Given the description of an element on the screen output the (x, y) to click on. 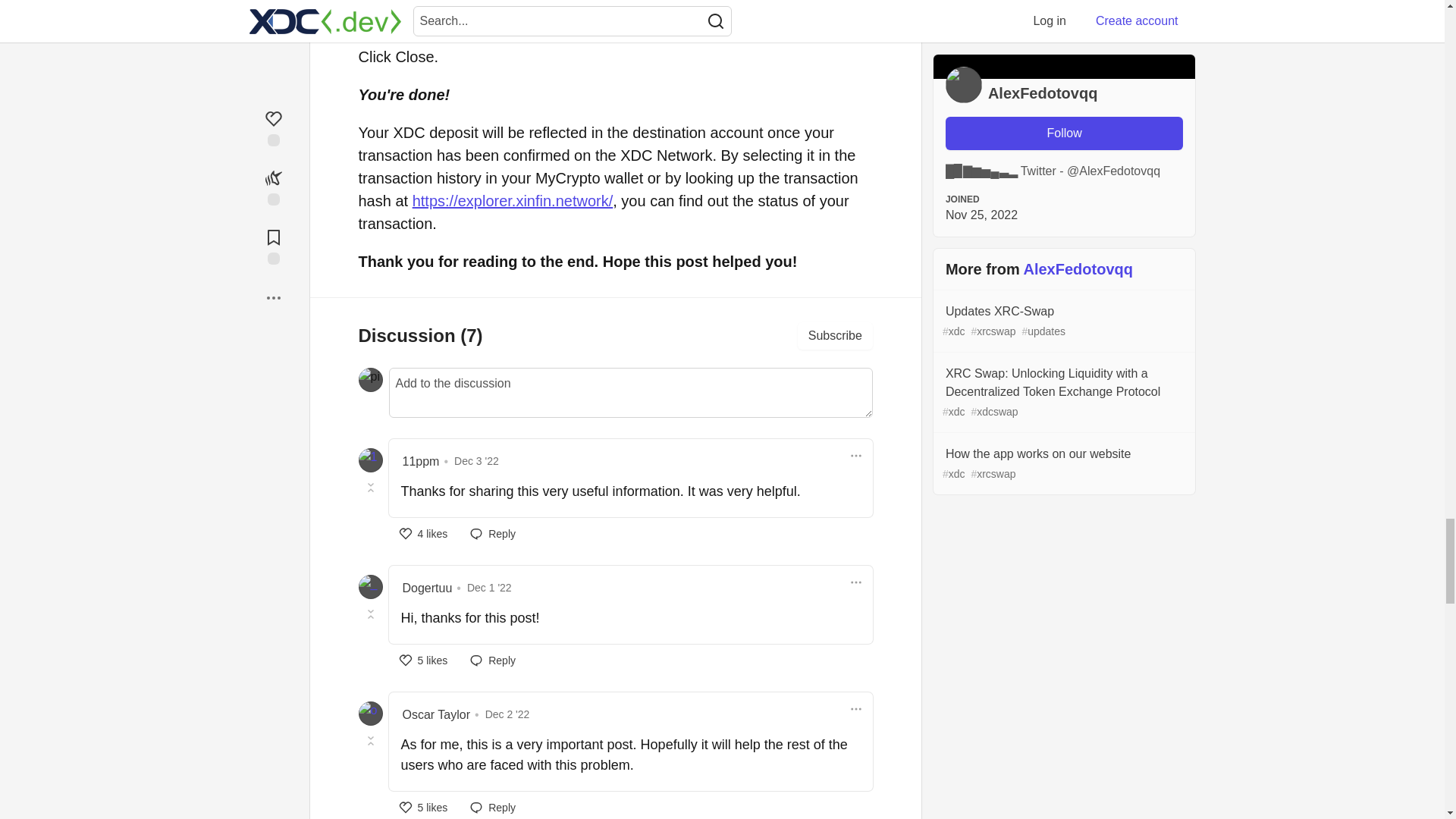
heart (423, 659)
heart (423, 533)
Dropdown menu (855, 708)
Dropdown menu (855, 582)
heart (423, 806)
Dropdown menu (855, 454)
